Given the description of an element on the screen output the (x, y) to click on. 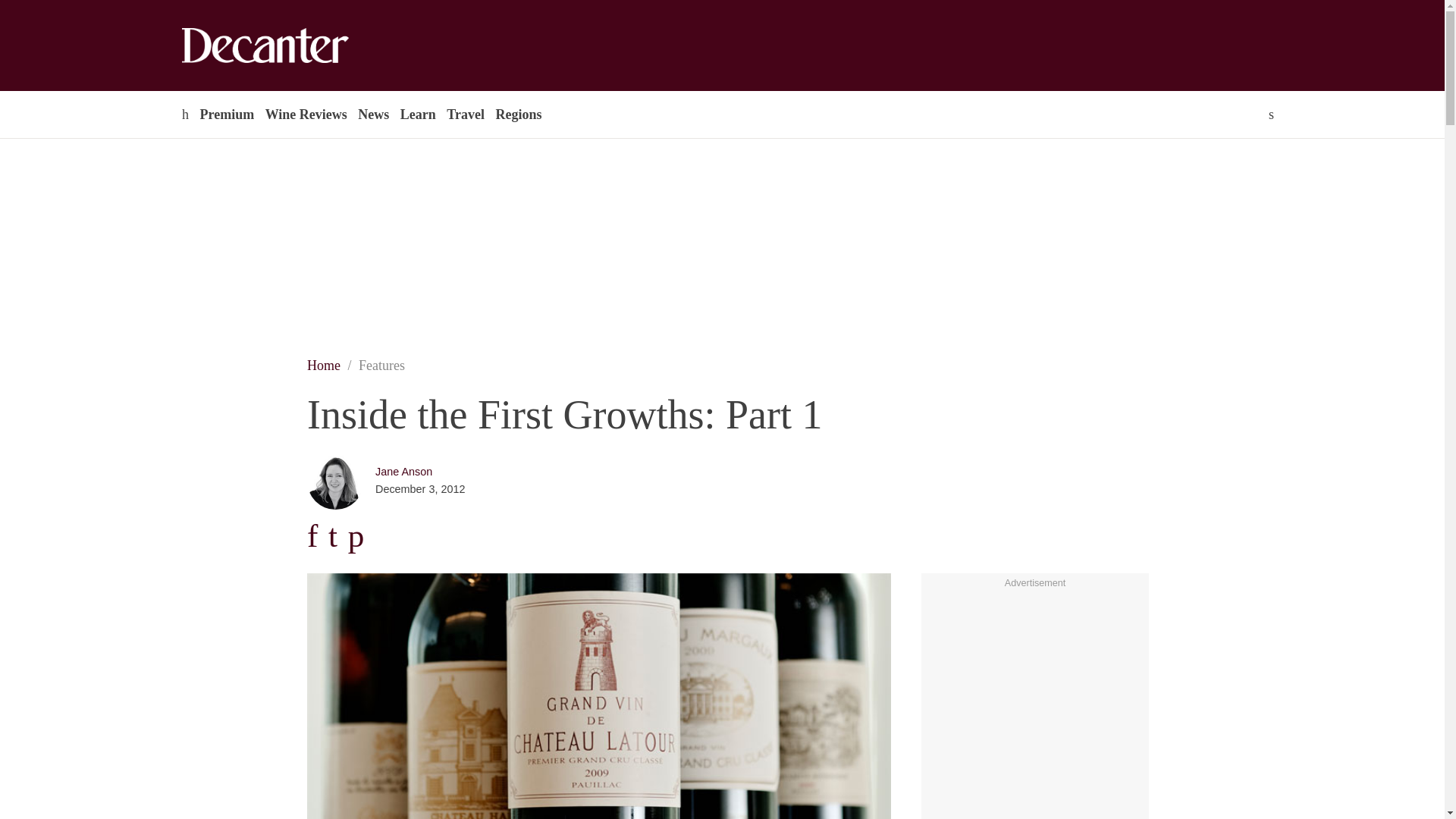
Wine Reviews (306, 114)
Travel (464, 114)
Decanter (297, 45)
Premium (226, 114)
Learn (417, 114)
